Given the description of an element on the screen output the (x, y) to click on. 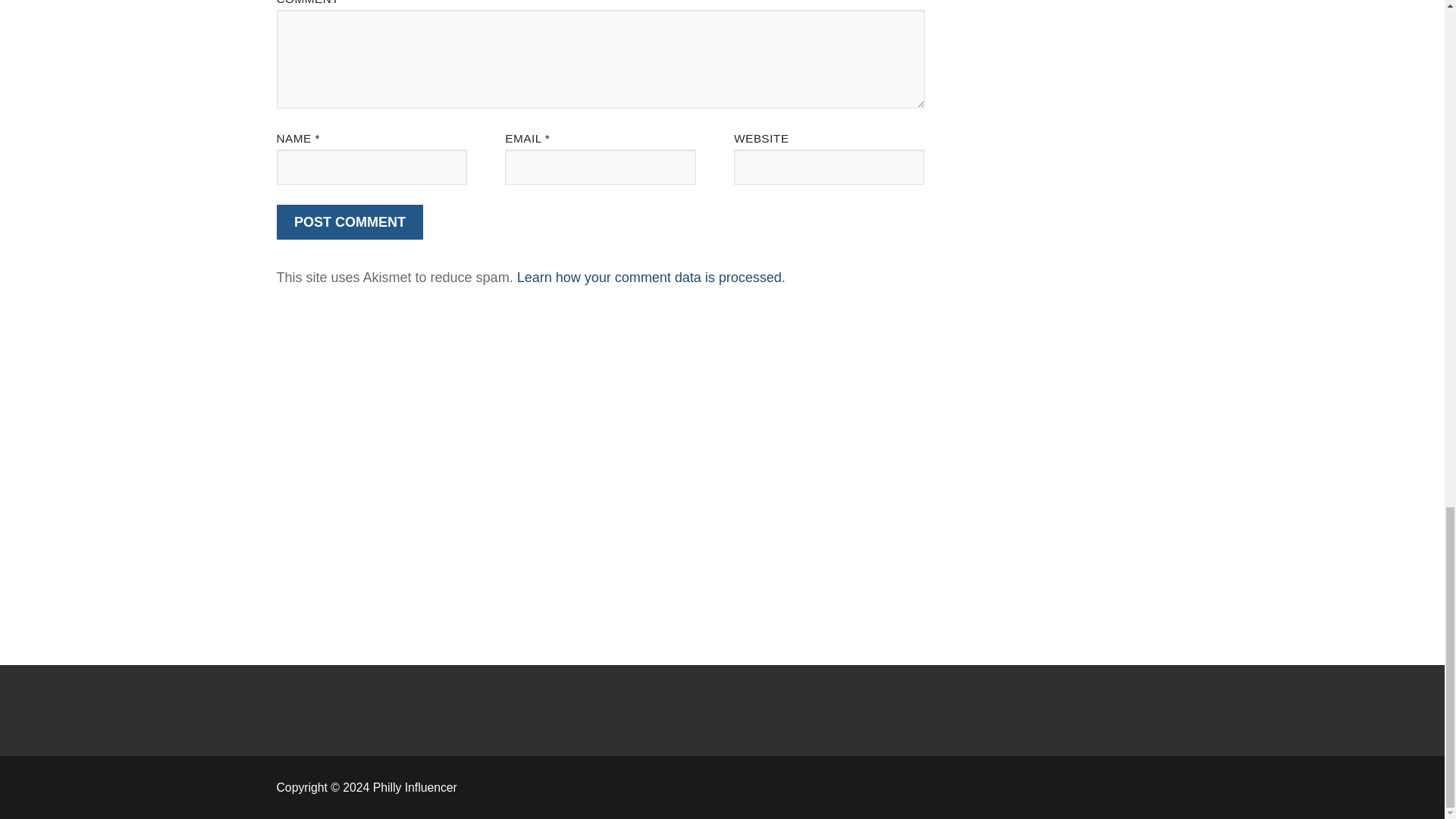
Post Comment (349, 222)
